Given the description of an element on the screen output the (x, y) to click on. 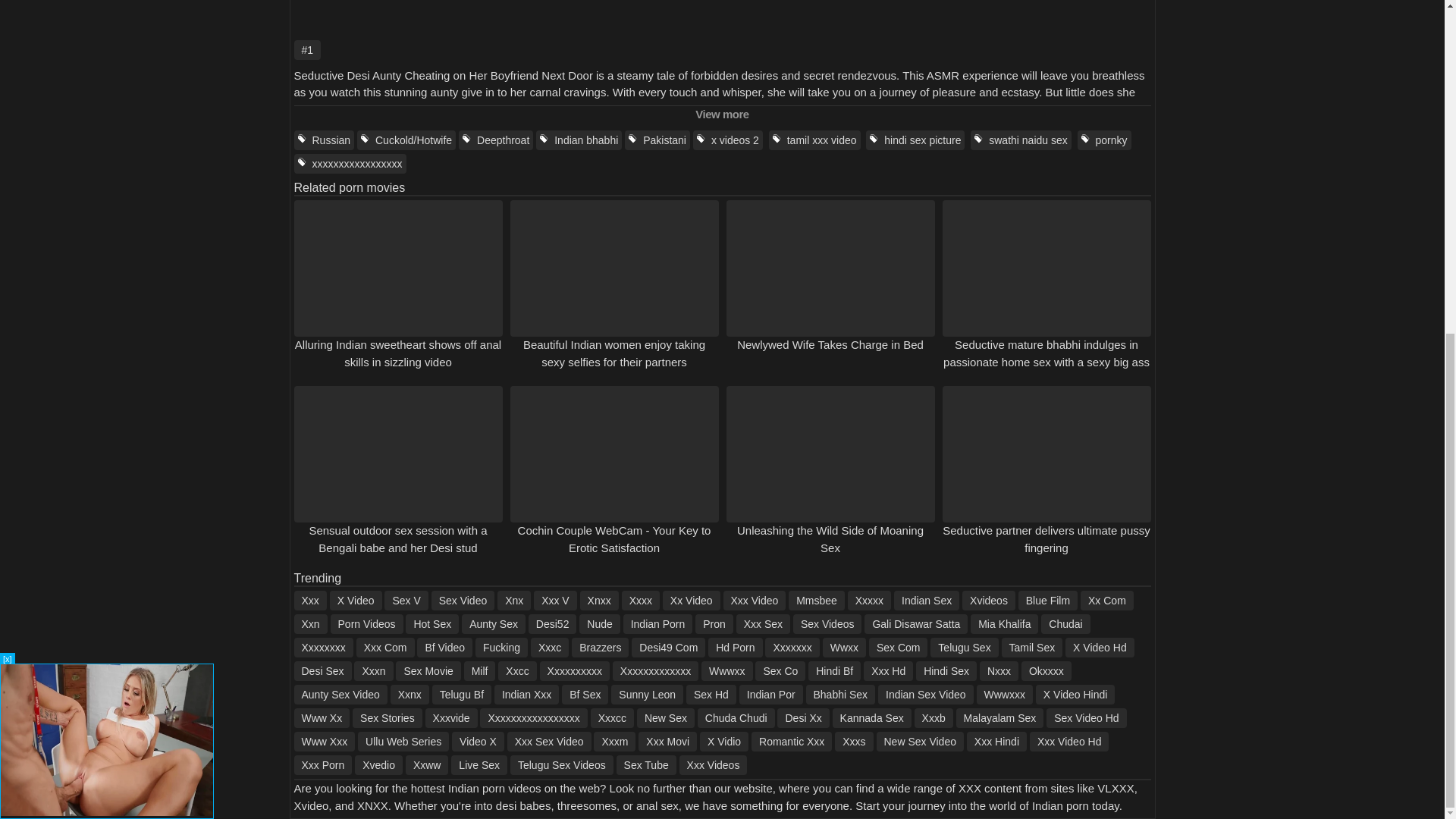
View more (722, 114)
Russian (324, 139)
Seductive Desi Aunty Cheating on Her Boyfriend Next Door (722, 18)
Deepthroat (495, 139)
Russian (324, 139)
Indian bhabhi (578, 139)
swathi naidu sex (1021, 139)
Newlywed Wife Takes Charge in Bed (829, 344)
Pakistani (657, 139)
